Given the description of an element on the screen output the (x, y) to click on. 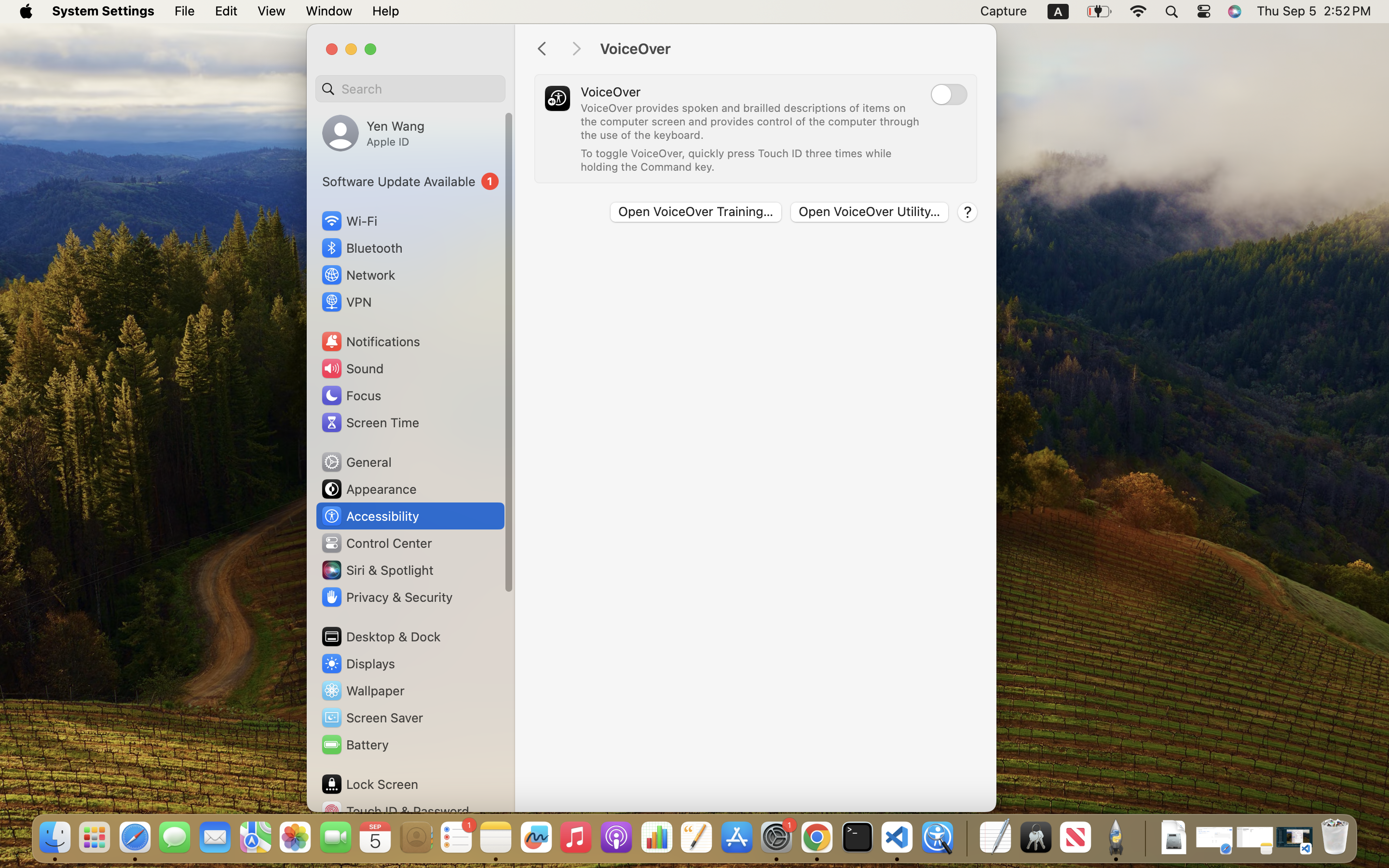
Sound Element type: AXStaticText (351, 367)
Notifications Element type: AXStaticText (370, 340)
General Element type: AXStaticText (355, 461)
